Given the description of an element on the screen output the (x, y) to click on. 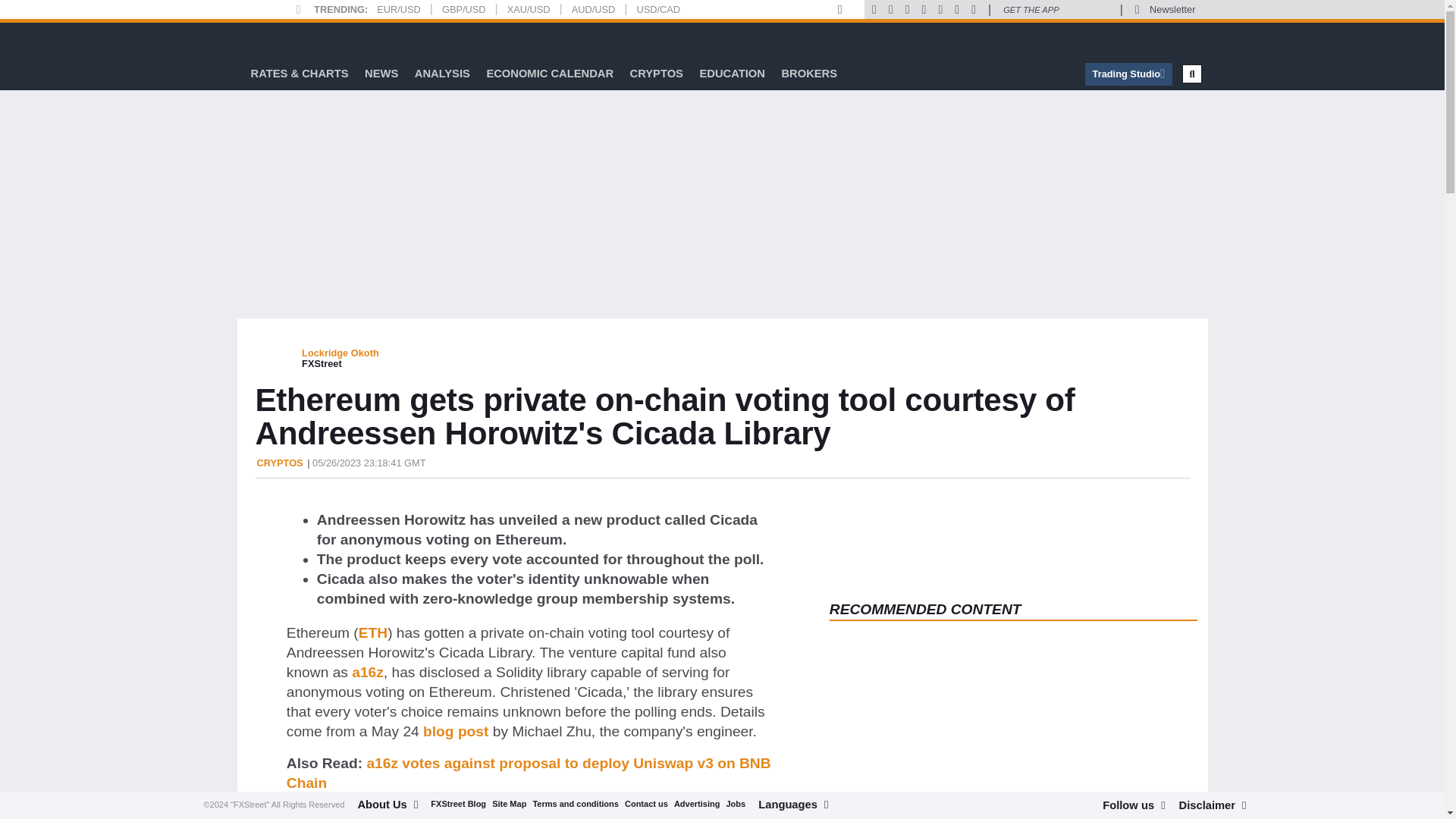
FXStreet (290, 39)
Newsletter (1172, 9)
FXStreet (290, 39)
